Given the description of an element on the screen output the (x, y) to click on. 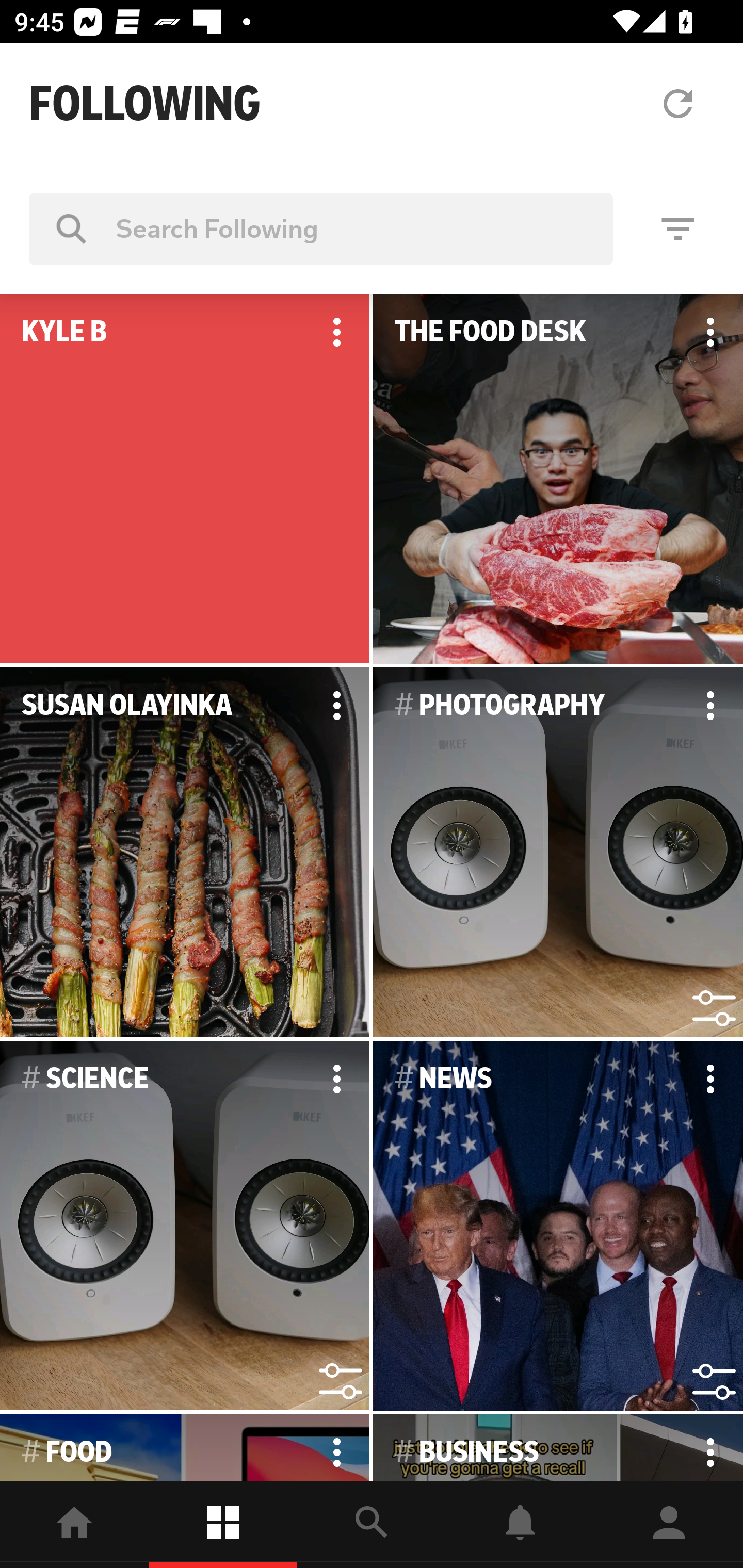
Search Following (320, 228)
KYLE B Options (184, 478)
Options (336, 332)
THE FOOD DESK Options (557, 478)
Options (710, 332)
SUSAN OLAYINKA Options (184, 852)
Options (336, 705)
# PHOTOGRAPHY Options (557, 852)
Options (710, 705)
# SCIENCE Options (184, 1226)
Options (336, 1078)
# NEWS Options (557, 1226)
Options (710, 1078)
home (74, 1524)
Following (222, 1524)
explore (371, 1524)
Notifications (519, 1524)
Profile (668, 1524)
